Given the description of an element on the screen output the (x, y) to click on. 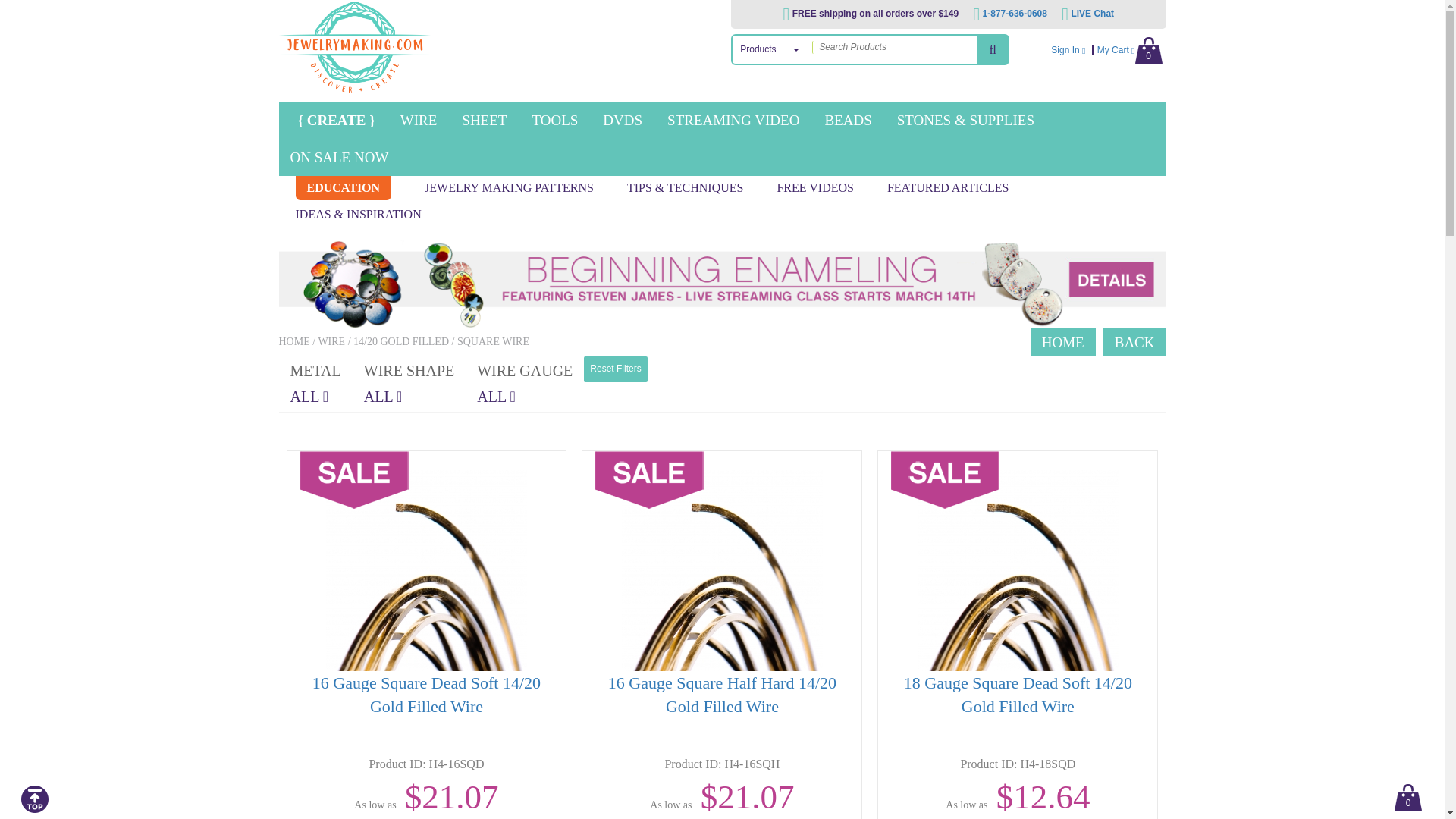
Reset Filters (614, 368)
